Given the description of an element on the screen output the (x, y) to click on. 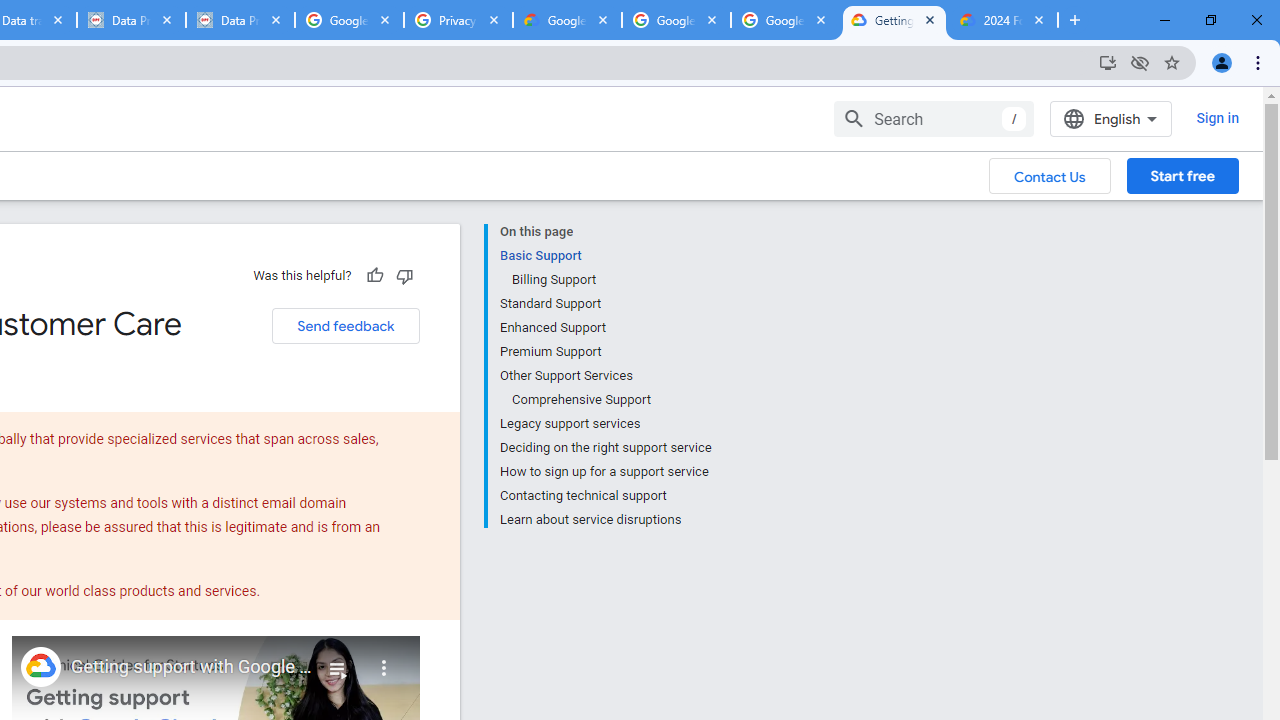
Deciding on the right support service (605, 448)
Playlist (337, 660)
Billing Support (610, 279)
Contacting technical support (605, 495)
English (1110, 118)
Enhanced Support (605, 327)
Comprehensive Support (610, 399)
Learn about service disruptions (605, 517)
Premium Support (605, 351)
Basic Support (605, 255)
